Given the description of an element on the screen output the (x, y) to click on. 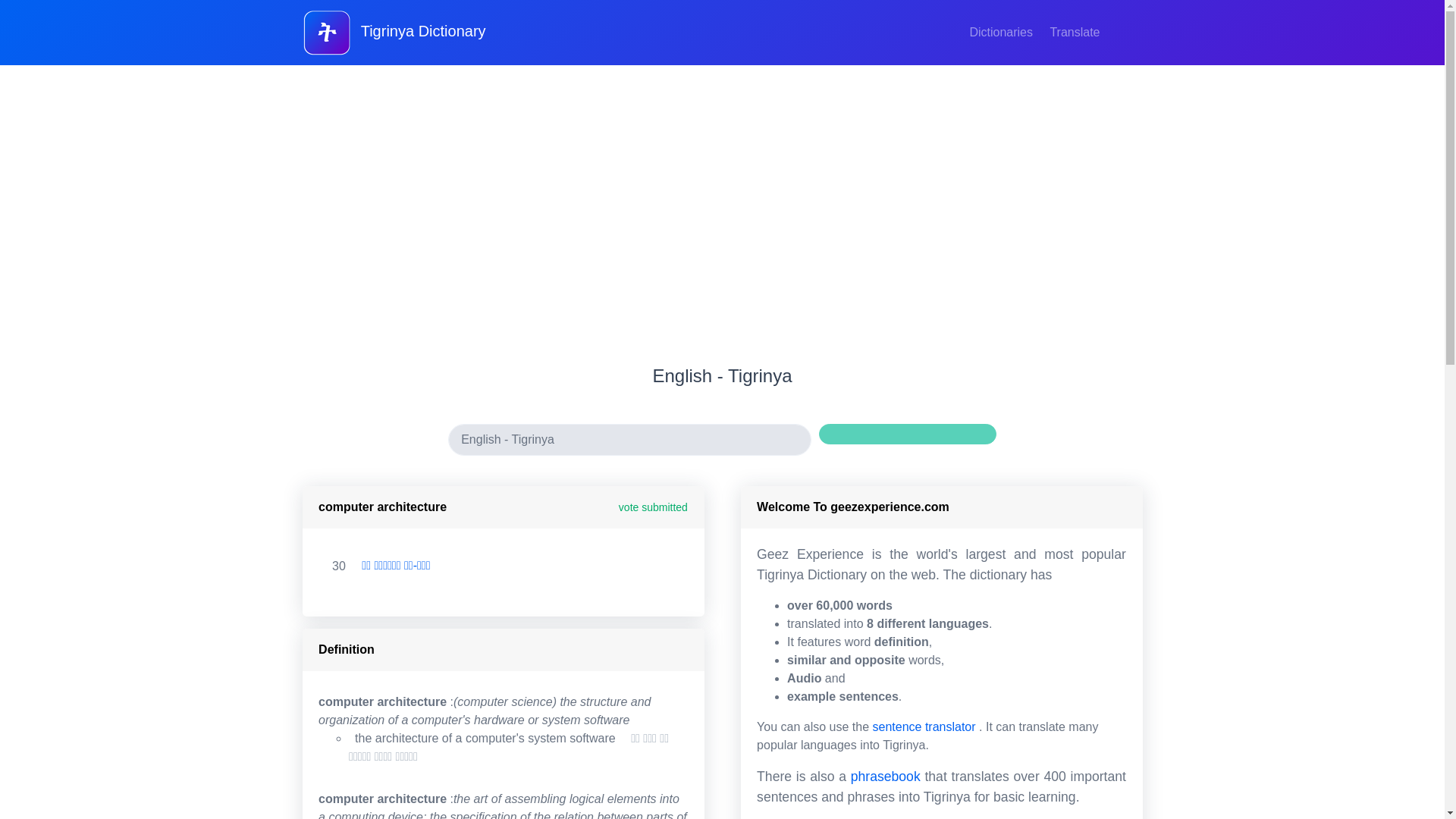
Translate (1074, 32)
sentence translator (923, 726)
Dictionaries (1002, 32)
Tigrinya Dictionary (396, 31)
phrasebook (885, 776)
